Given the description of an element on the screen output the (x, y) to click on. 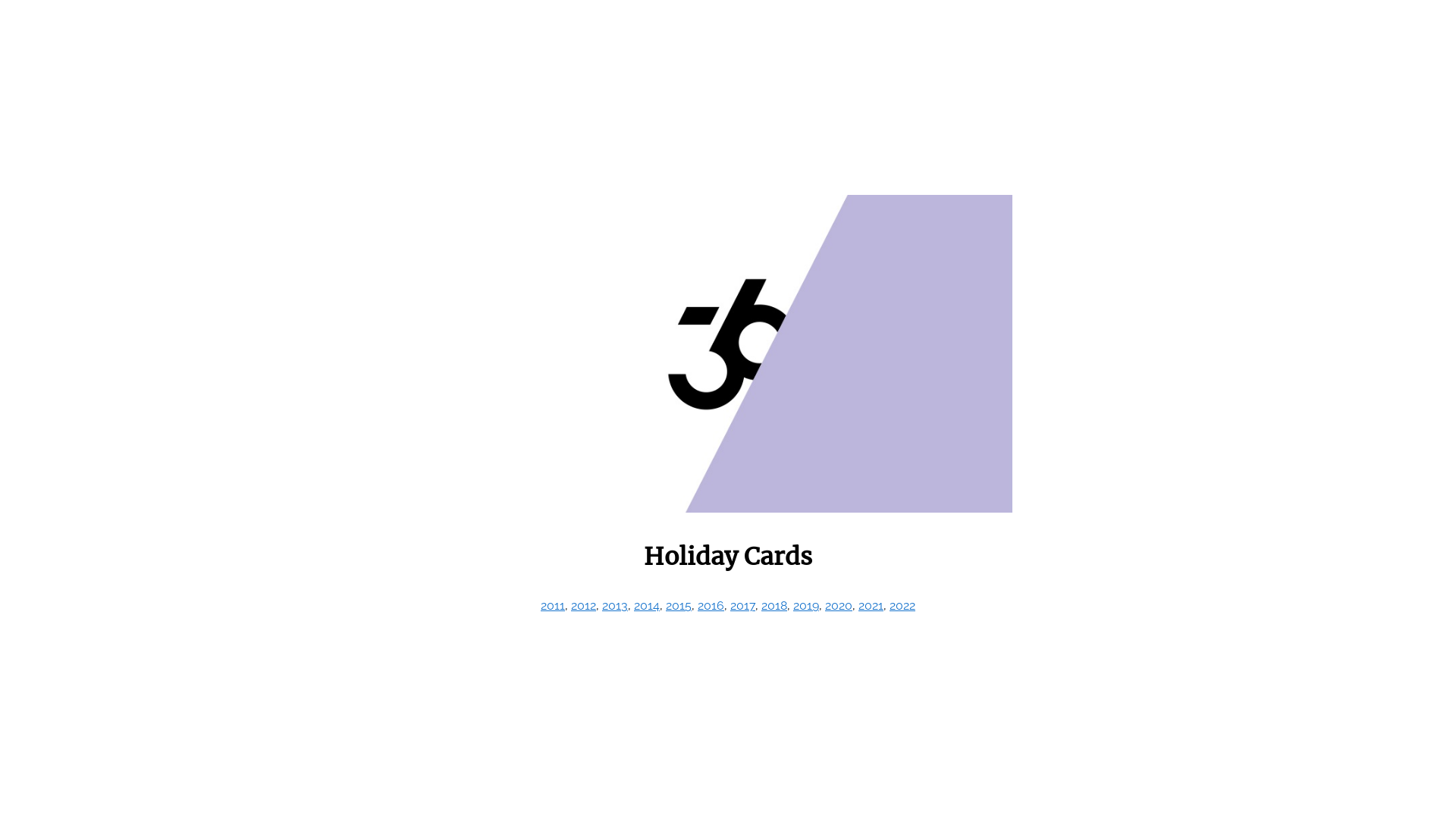
2019 Element type: text (806, 605)
2014 Element type: text (646, 605)
2021 Element type: text (870, 605)
2011 Element type: text (552, 605)
2020 Element type: text (838, 605)
2012 Element type: text (583, 605)
2017 Element type: text (742, 605)
2013 Element type: text (614, 605)
2018 Element type: text (774, 605)
2016 Element type: text (710, 605)
2022 Element type: text (902, 605)
2015 Element type: text (678, 605)
